Given the description of an element on the screen output the (x, y) to click on. 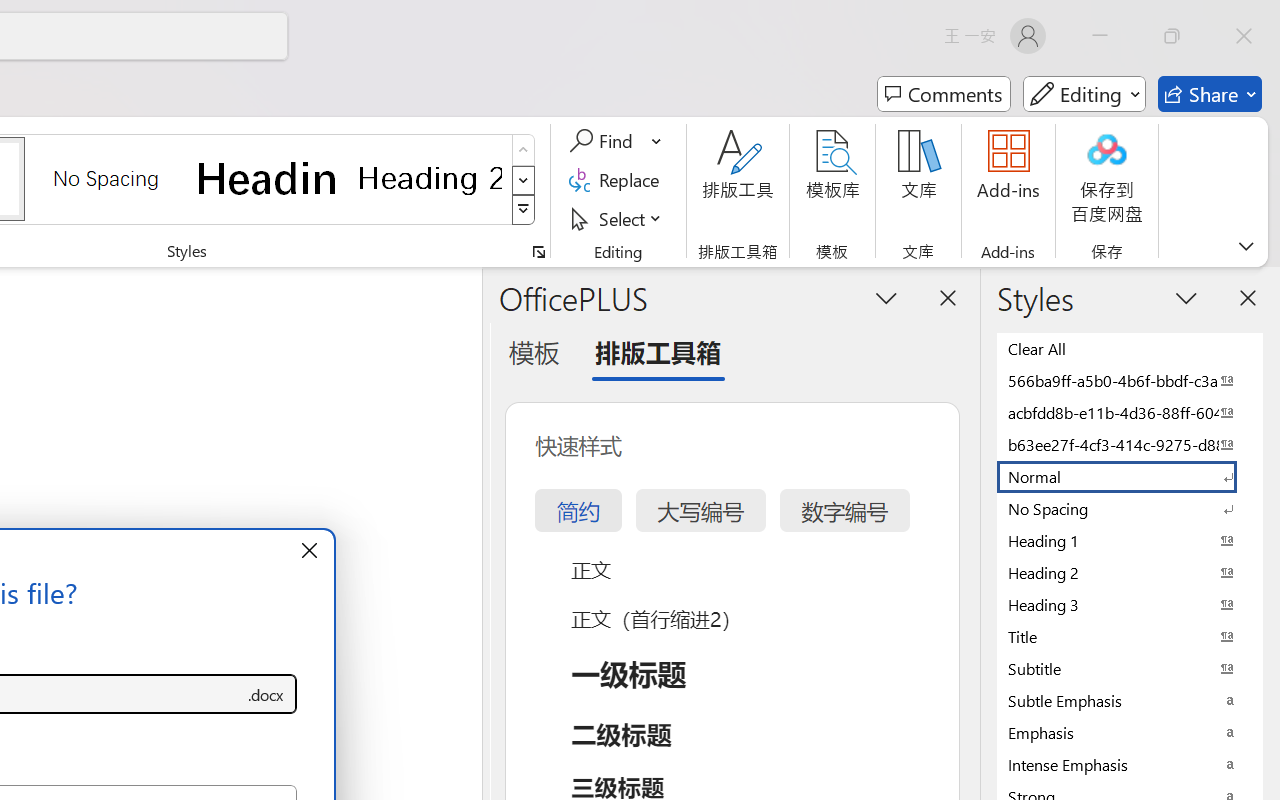
Save as type (265, 694)
b63ee27f-4cf3-414c-9275-d88e3f90795e (1130, 444)
Subtitle (1130, 668)
